Given the description of an element on the screen output the (x, y) to click on. 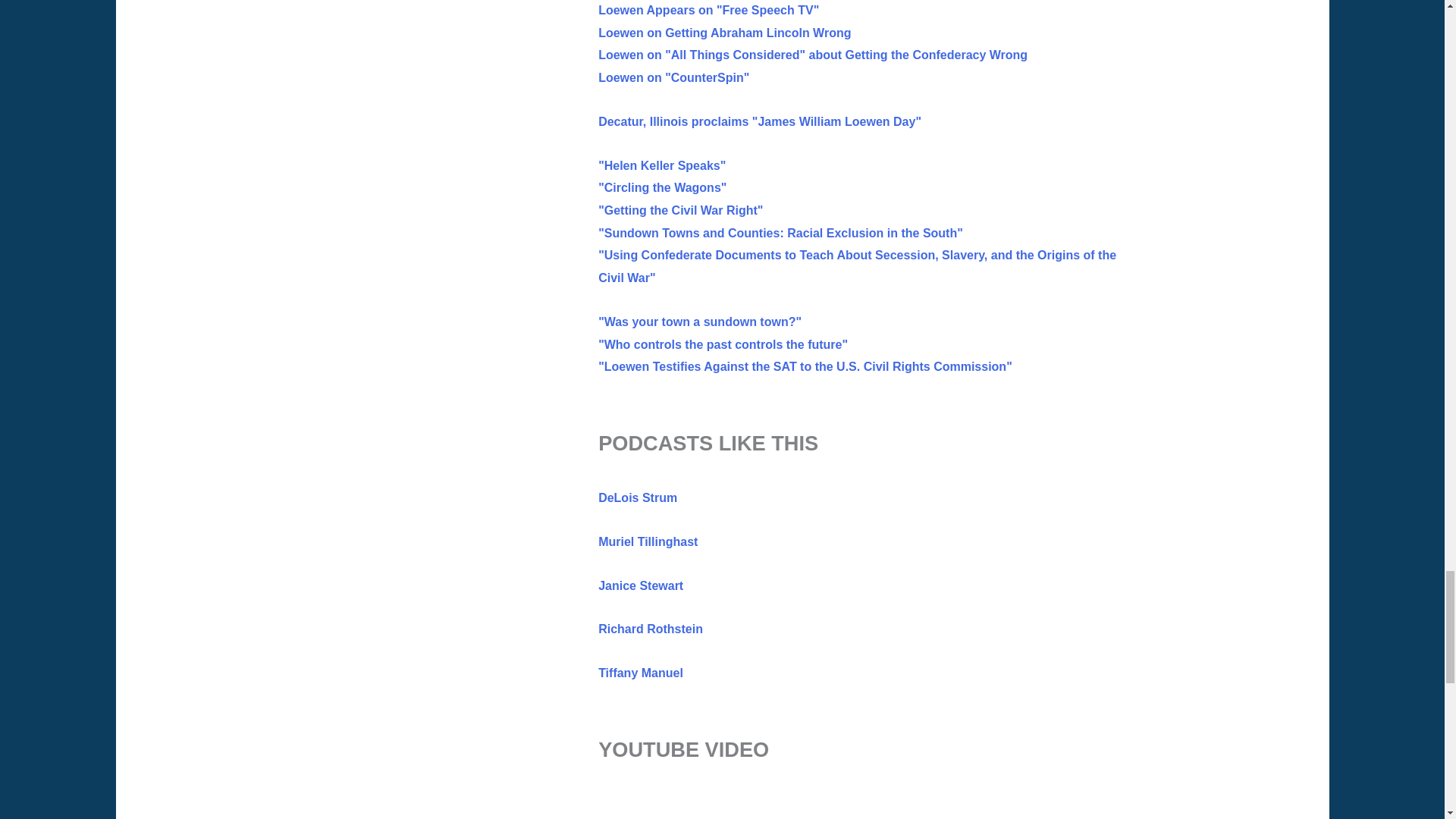
YouTube video player (810, 806)
